Given the description of an element on the screen output the (x, y) to click on. 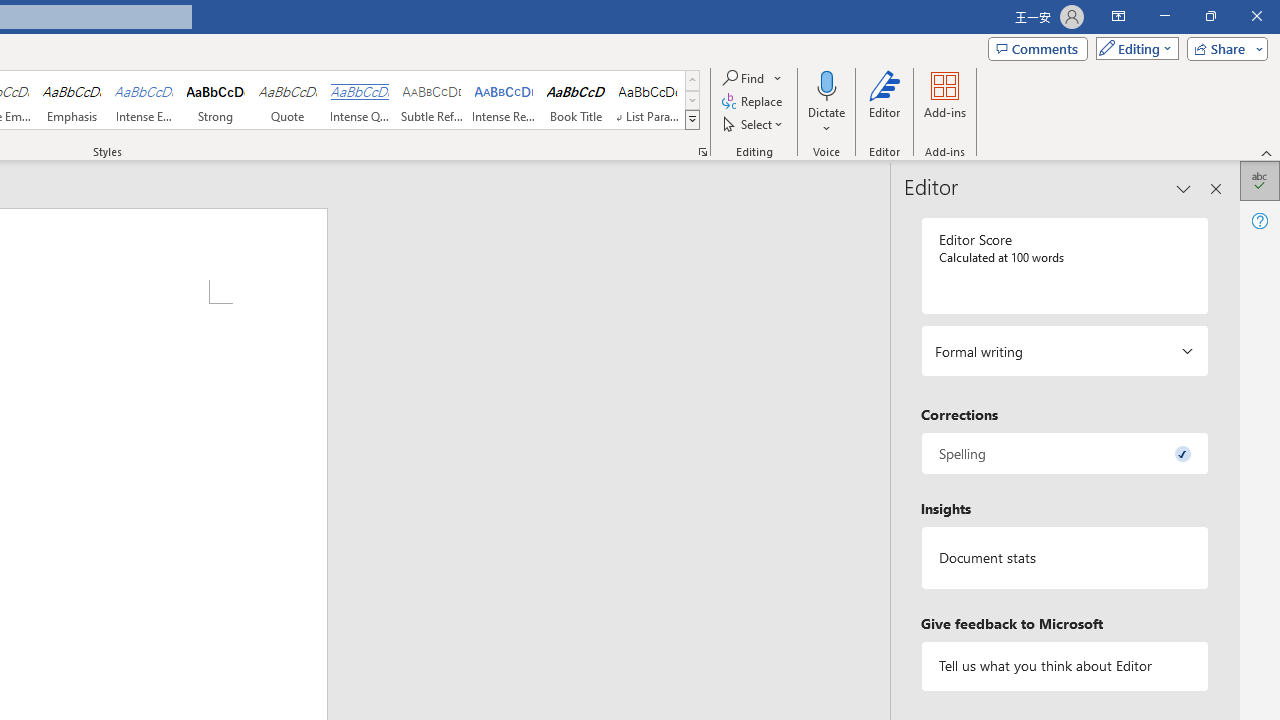
Intense Reference (504, 100)
Quote (287, 100)
Book Title (575, 100)
Styles... (702, 151)
Row Down (692, 100)
Help (1260, 220)
Restore Down (1210, 16)
Emphasis (71, 100)
Select (754, 124)
